Given the description of an element on the screen output the (x, y) to click on. 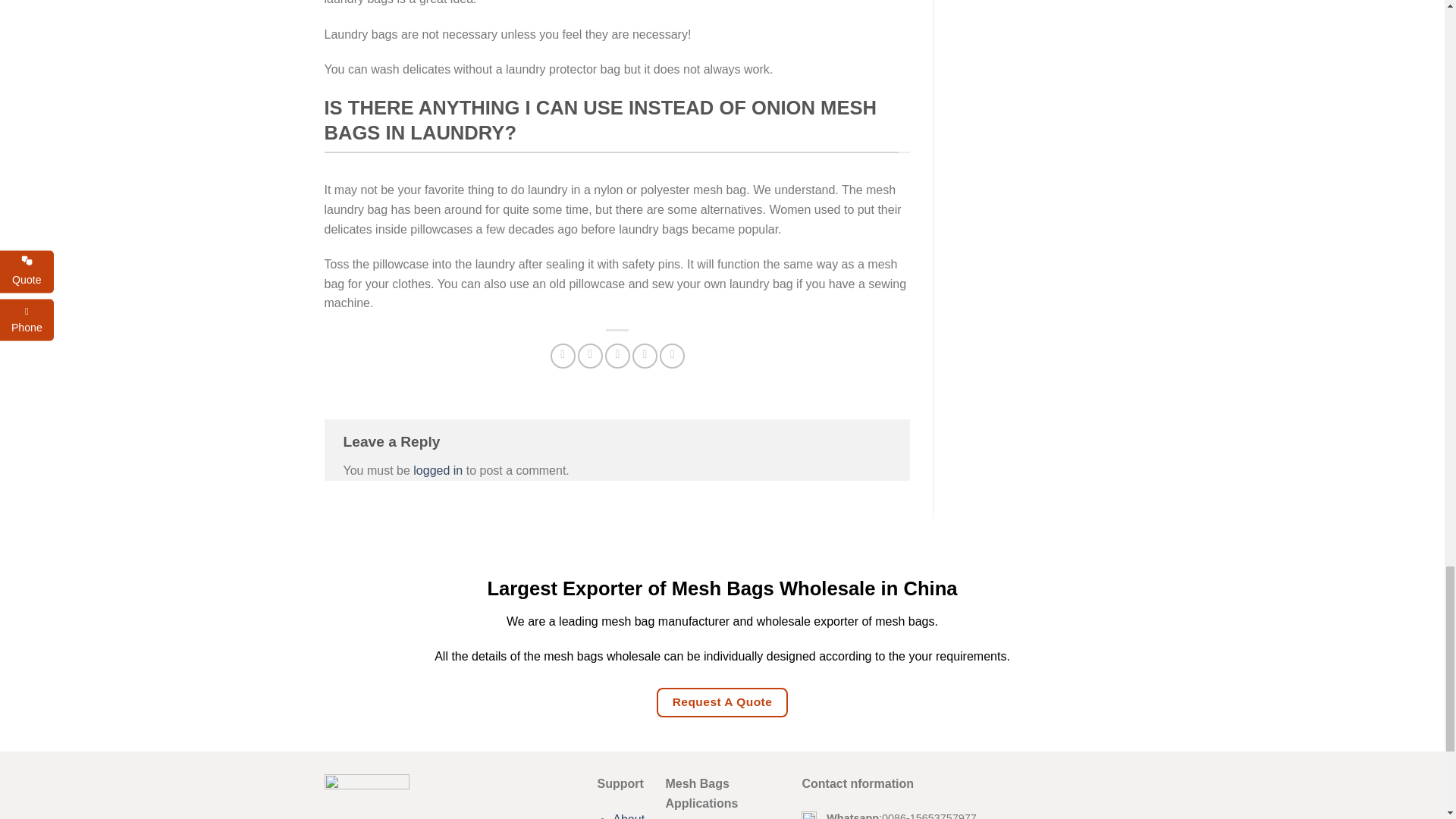
Pin on Pinterest (644, 355)
Email to a Friend (617, 355)
Share on Twitter (590, 355)
logged in (438, 470)
Share on LinkedIn (671, 355)
Share on Facebook (562, 355)
